Given the description of an element on the screen output the (x, y) to click on. 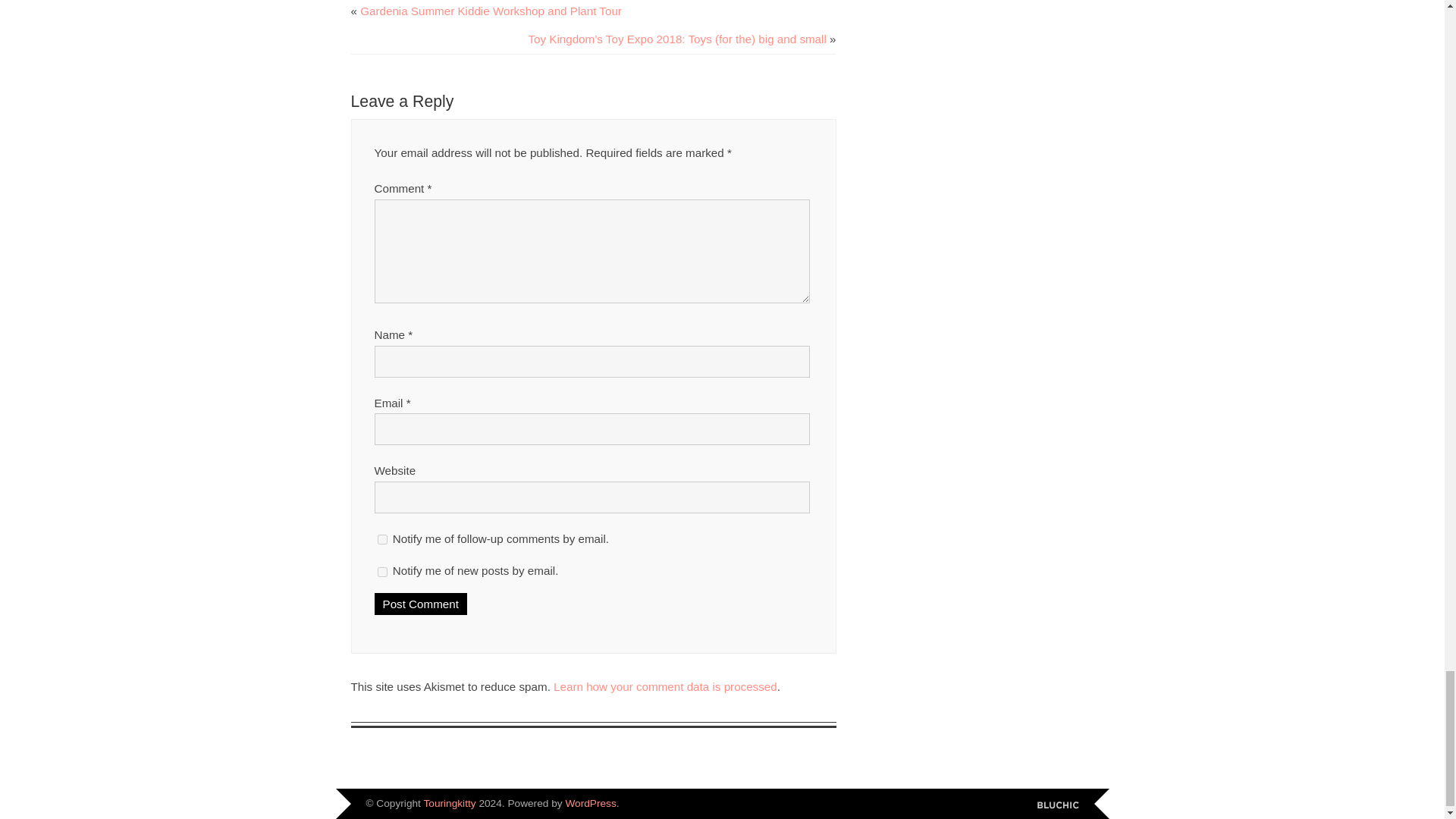
subscribe (382, 572)
Post Comment (420, 603)
Gardenia Summer Kiddie Workshop and Plant Tour (490, 10)
Learn how your comment data is processed (665, 686)
subscribe (382, 539)
Post Comment (420, 603)
Theme designed by BluChic (1057, 805)
